Given the description of an element on the screen output the (x, y) to click on. 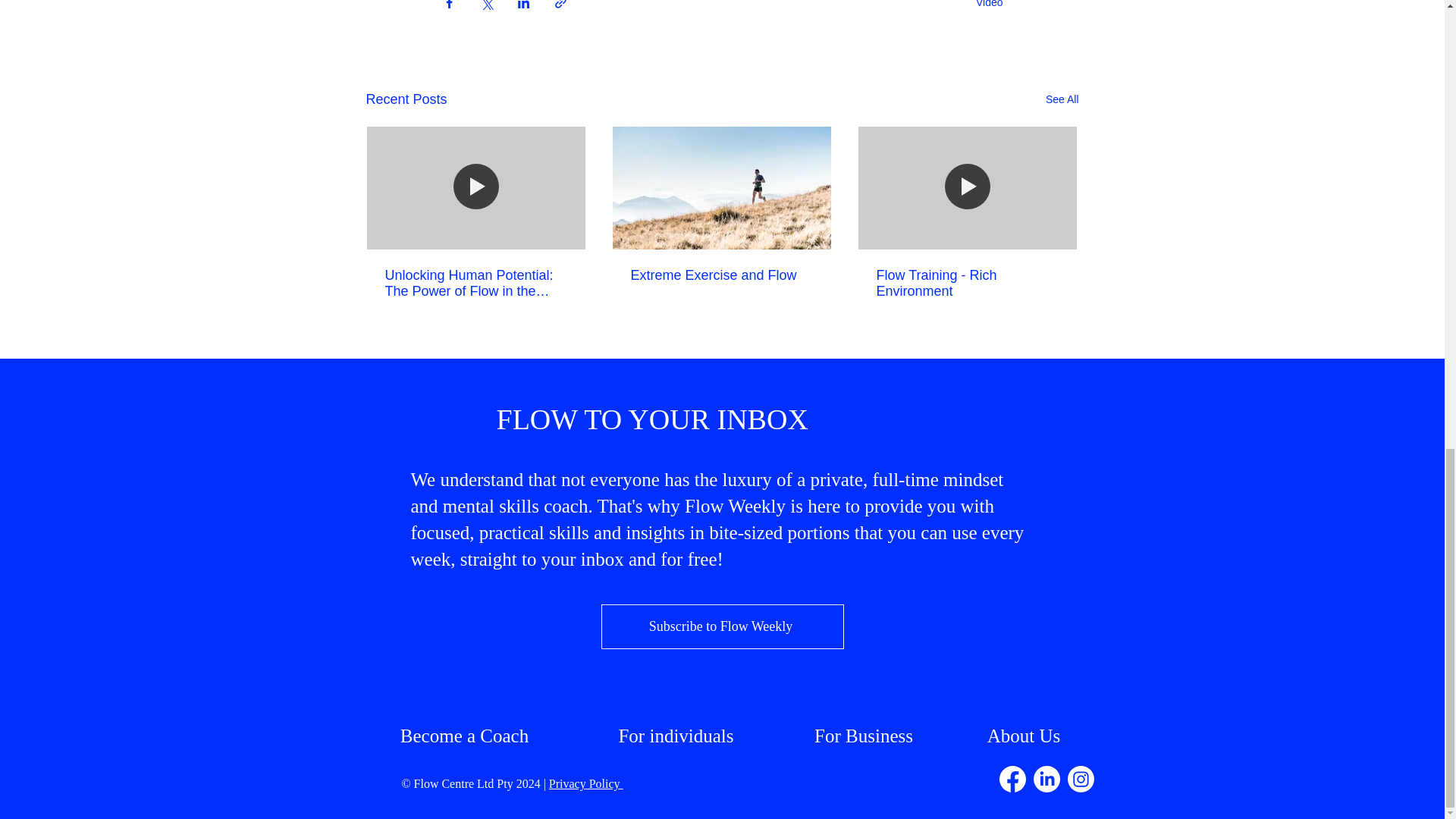
Subscribe to Flow Weekly (721, 626)
For Business (863, 736)
Flow Training - Rich Environment (967, 283)
Extreme Exercise and Flow (721, 275)
See All (1061, 99)
Become a Coach (464, 736)
For individuals (675, 736)
Privacy Policy  (585, 783)
Video (989, 4)
